Given the description of an element on the screen output the (x, y) to click on. 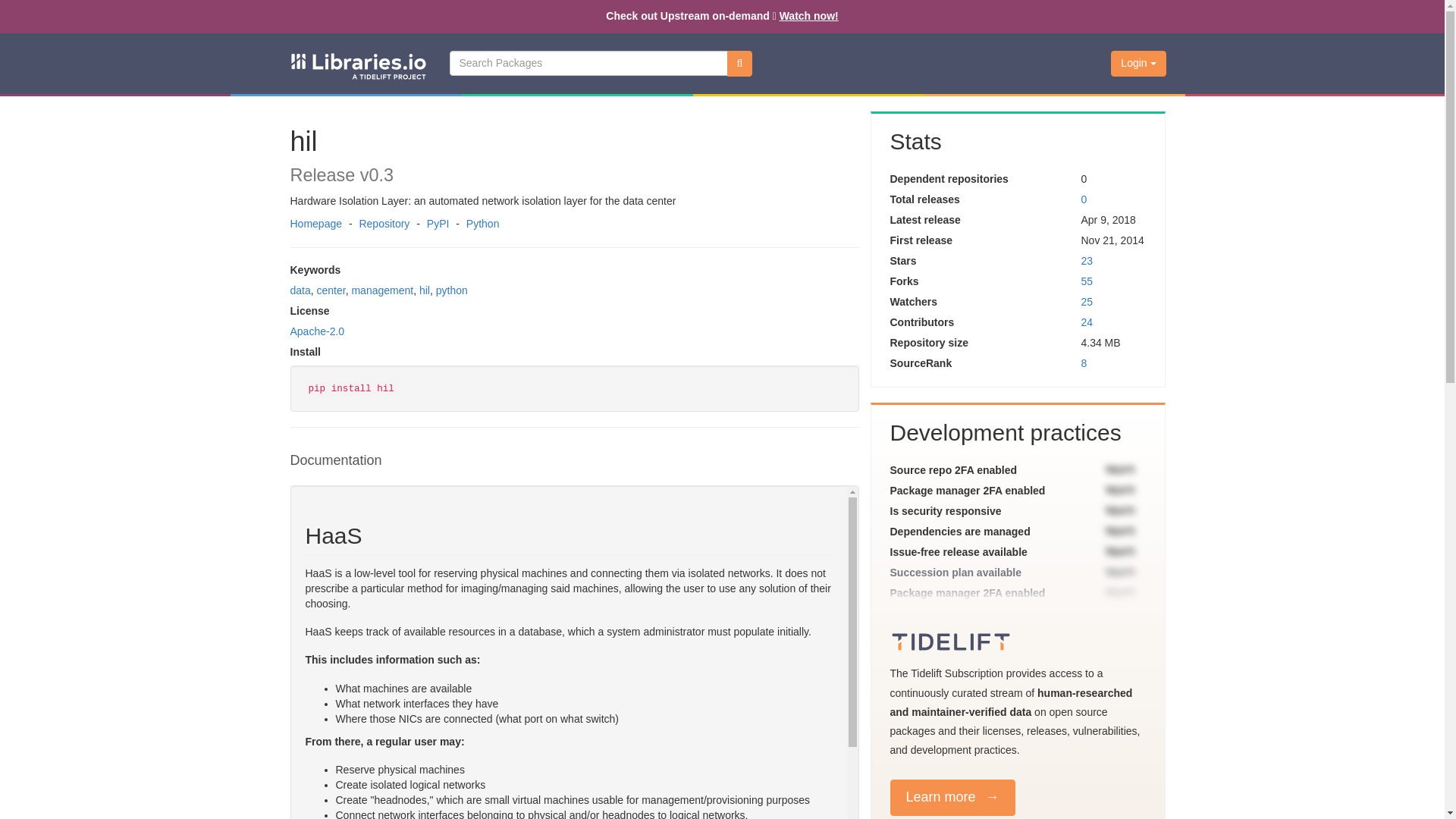
python (451, 290)
Watch now! (808, 15)
Nov 21, 2014 (1111, 240)
data (299, 290)
Python (482, 223)
Homepage (315, 223)
management (381, 290)
Login (1138, 63)
PyPI (437, 223)
center (331, 290)
Repository (383, 223)
Apr  9, 2018 (1107, 219)
Apache-2.0 (316, 331)
